Given the description of an element on the screen output the (x, y) to click on. 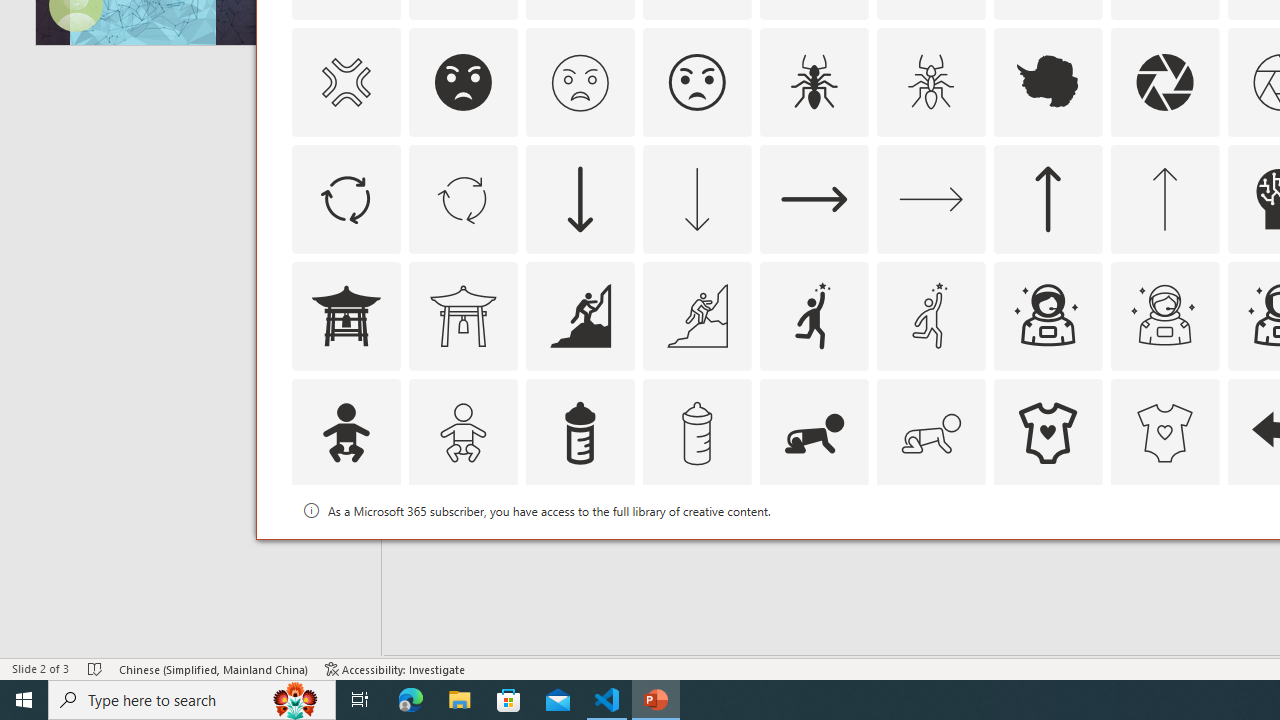
AutomationID: Icons_Ant_M (930, 82)
